Given the description of an element on the screen output the (x, y) to click on. 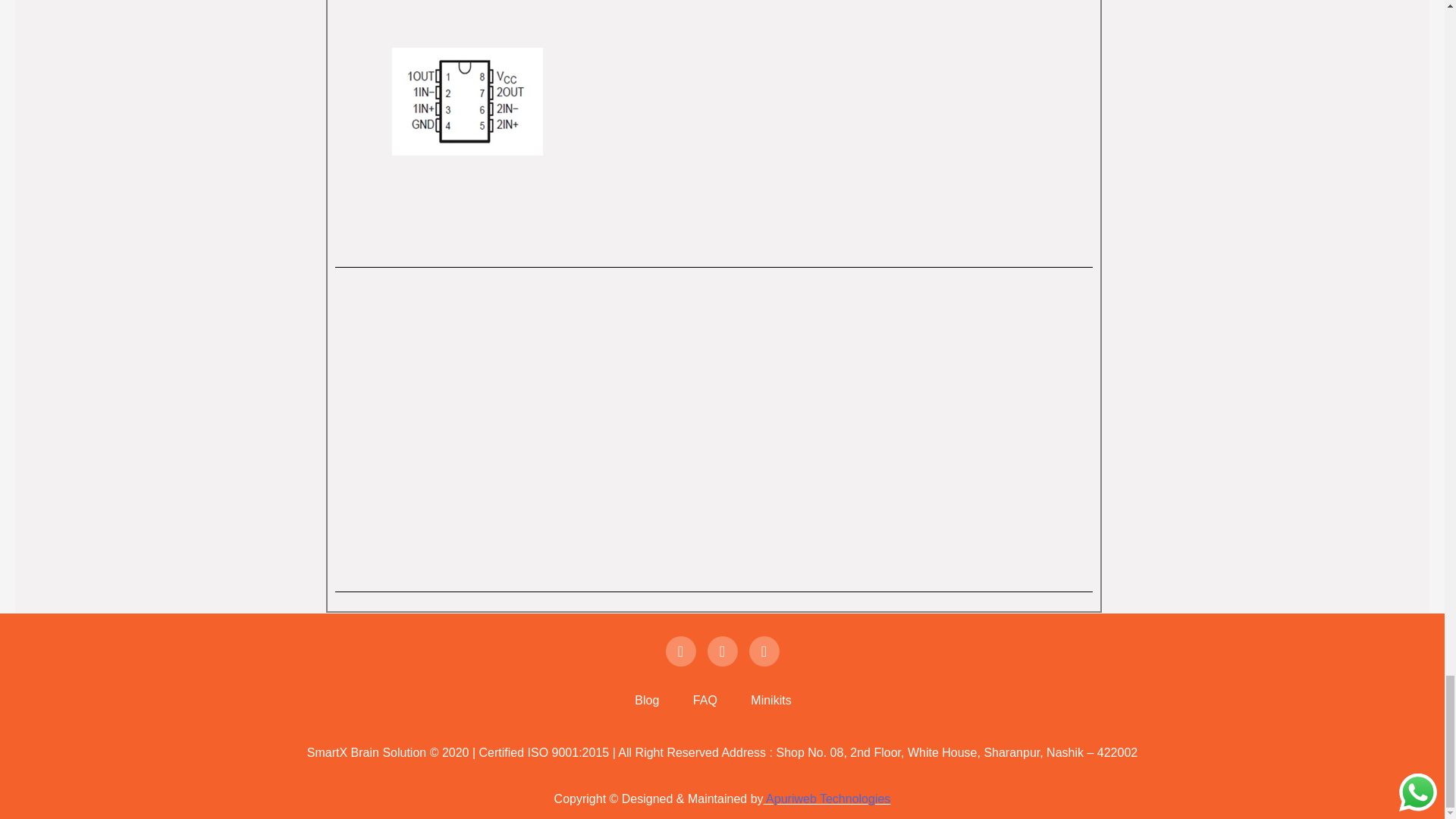
Instagram (721, 651)
FAQ (705, 699)
Linkedin (763, 651)
Minikits (770, 699)
Youtube (680, 651)
Blog (646, 699)
Blog (646, 699)
